Given the description of an element on the screen output the (x, y) to click on. 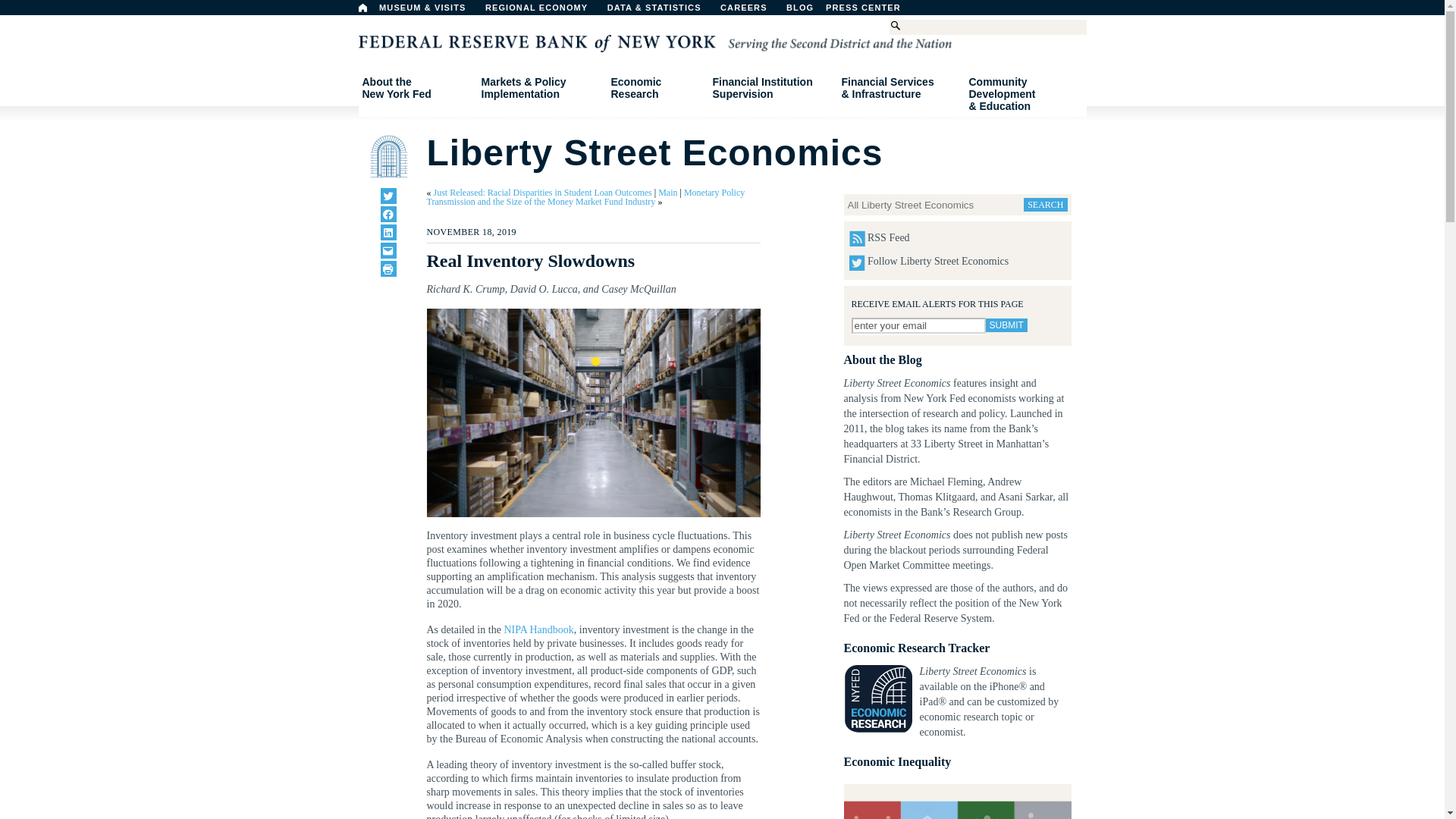
enter your email (917, 325)
REGIONAL ECONOMY (543, 11)
Submit (1006, 325)
Real Inventory Slowdowns (593, 412)
Click to email a link to a friend (415, 87)
Click to share on Twitter (388, 250)
PRESS CENTER (388, 195)
BLOG (870, 11)
Click to print (839, 11)
Click to share on Facebook (388, 268)
CAREERS (388, 213)
Home (751, 11)
Click to share on LinkedIn (362, 8)
